Given the description of an element on the screen output the (x, y) to click on. 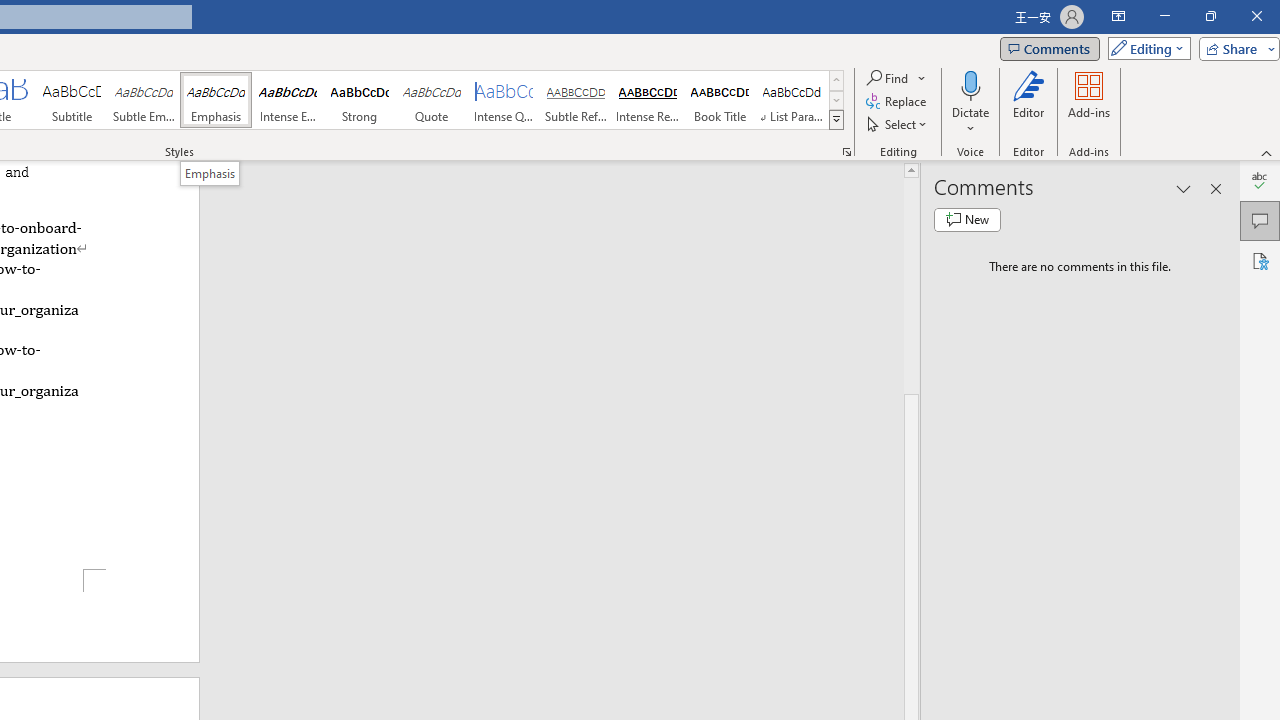
Emphasis (210, 173)
Editing (1144, 47)
Strong (359, 100)
Emphasis (216, 100)
